Given the description of an element on the screen output the (x, y) to click on. 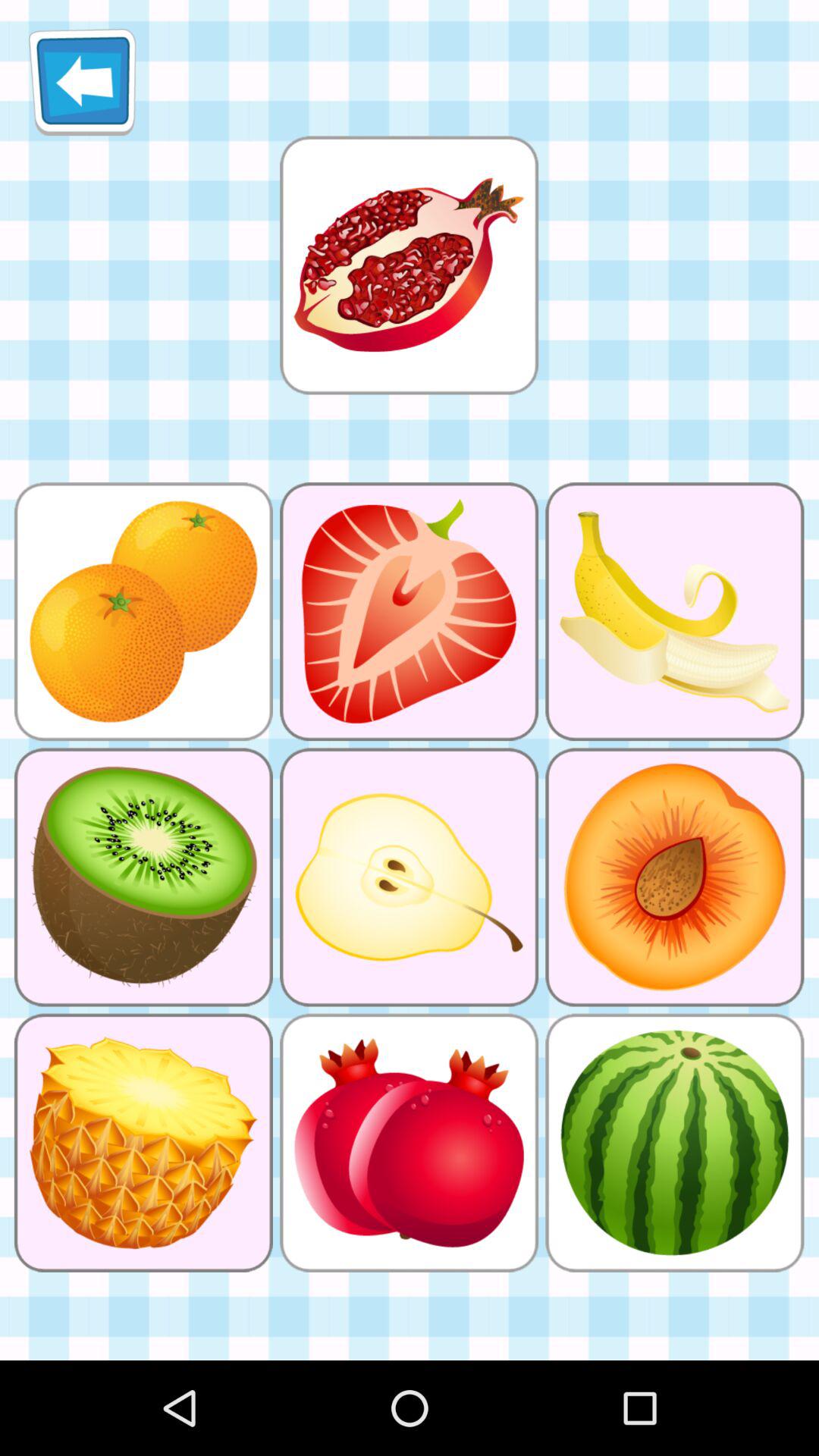
what fruit to match (409, 265)
